Given the description of an element on the screen output the (x, y) to click on. 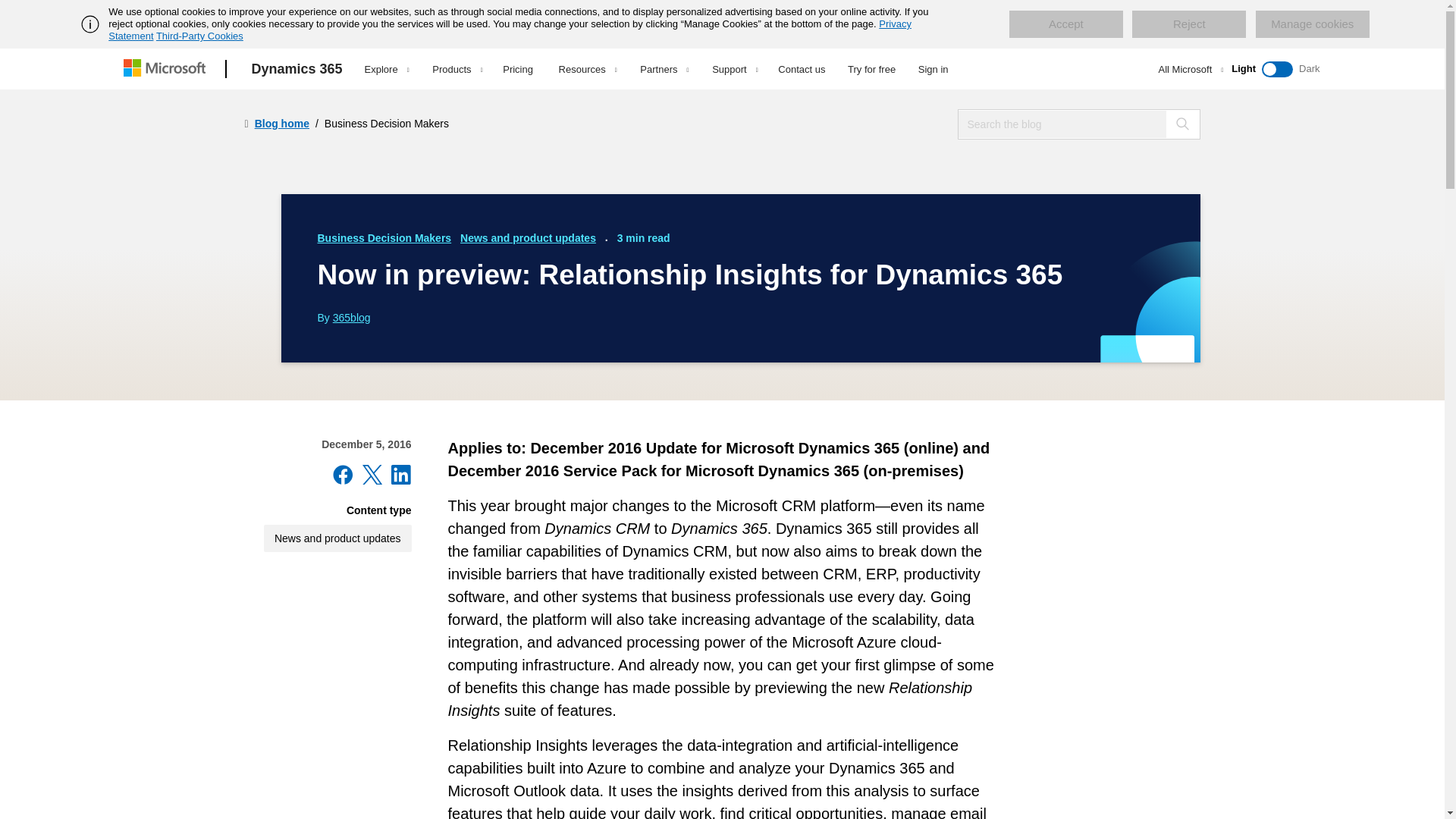
Accept (1065, 23)
Manage cookies (1312, 23)
Reject (1189, 23)
Explore (387, 69)
Third-Party Cookies (199, 35)
Products (457, 69)
Privacy Statement (509, 29)
Dynamics 365 (297, 69)
Microsoft (167, 69)
